Given the description of an element on the screen output the (x, y) to click on. 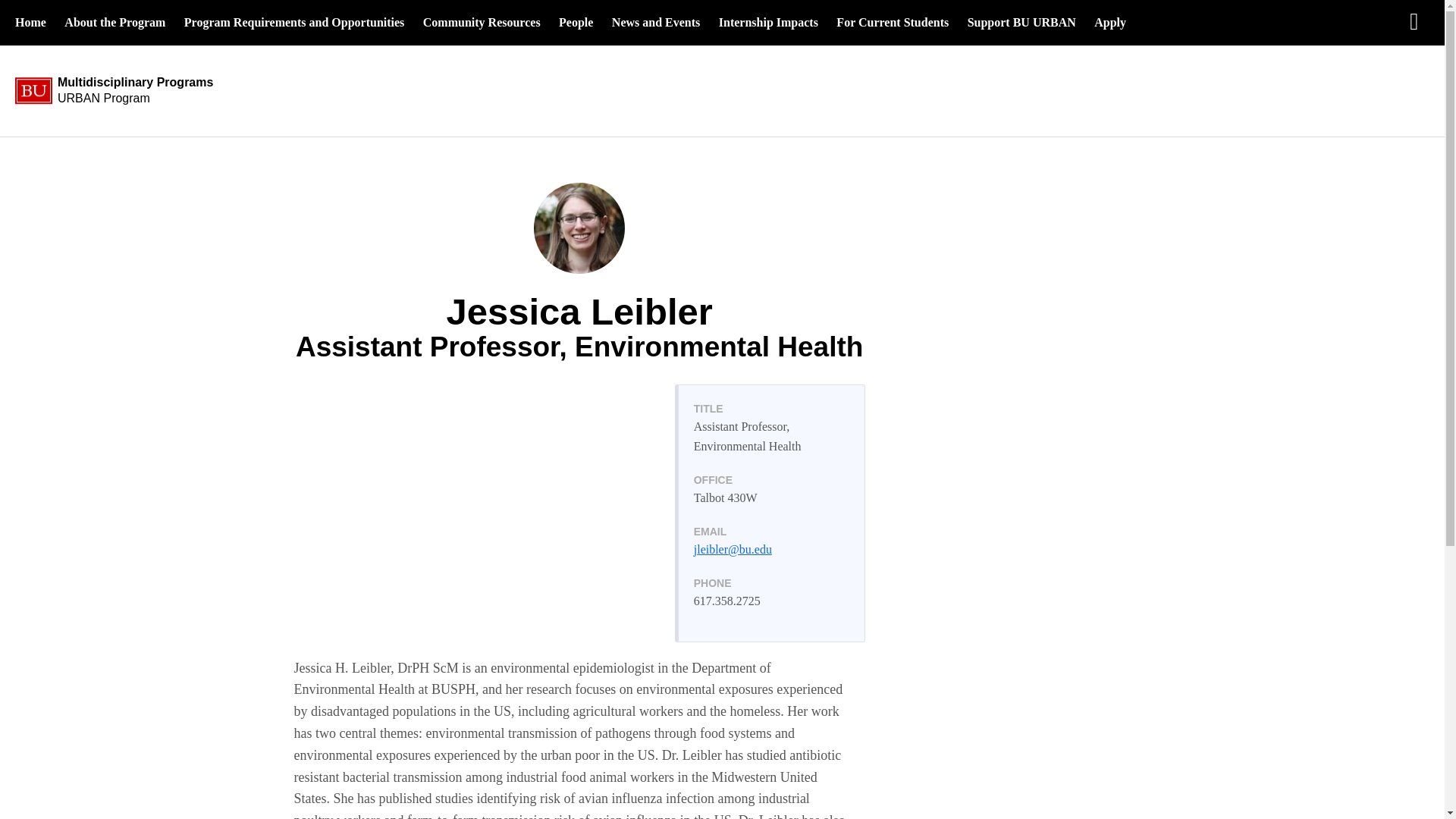
Navigate to: Program Requirements and Opportunities (294, 22)
Program Requirements and Opportunities (294, 22)
Navigate to: People (575, 22)
Navigate to: About the Program (114, 22)
Internship Impacts (768, 22)
News and Events (655, 22)
Support BU URBAN (1021, 22)
About the Program (124, 91)
Apply (114, 22)
Navigate to: Community Resources (1110, 22)
People (481, 22)
Home (575, 22)
Community Resources (30, 22)
Navigate to: Home (481, 22)
